Given the description of an element on the screen output the (x, y) to click on. 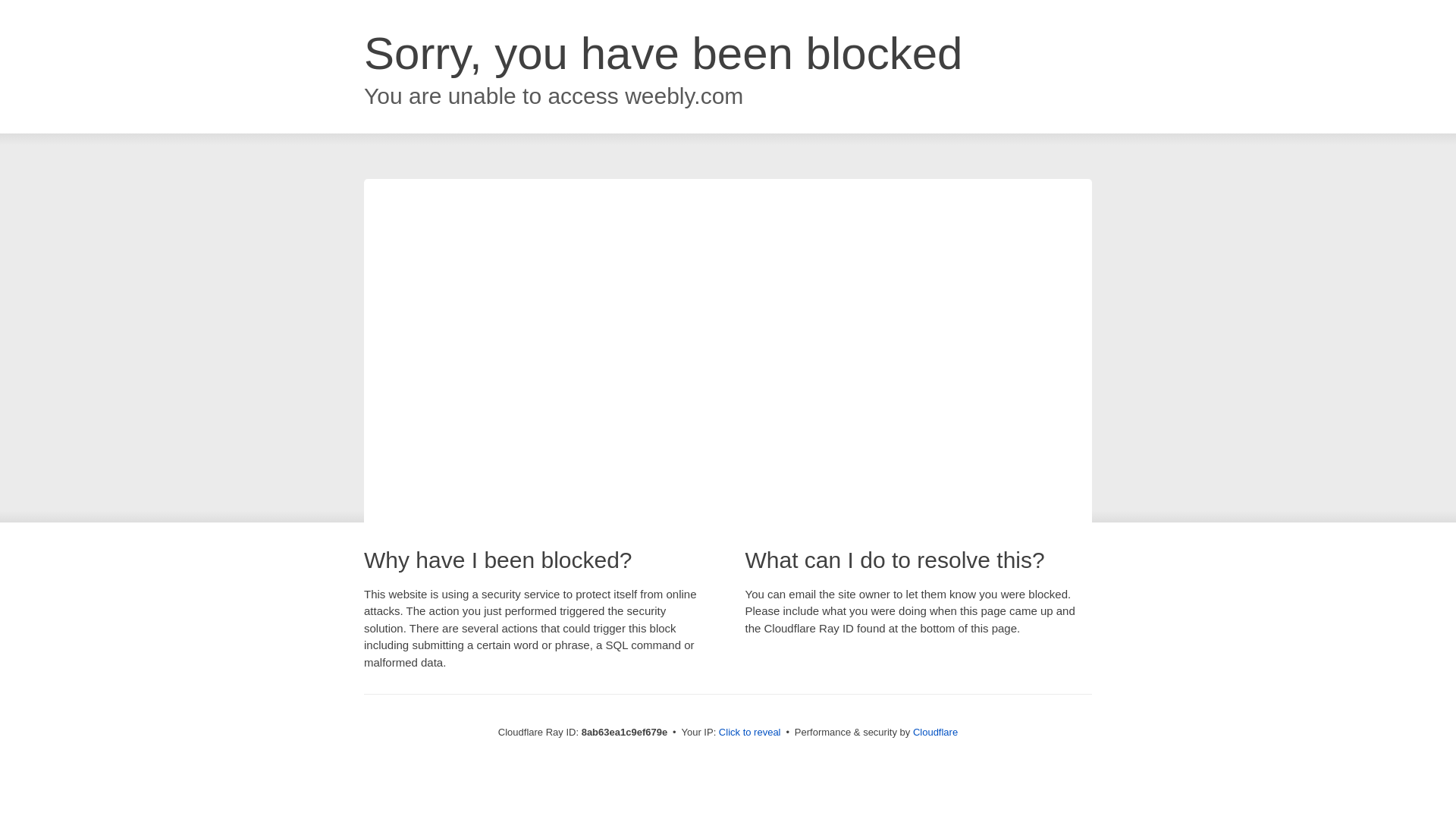
Click to reveal (749, 732)
Cloudflare (935, 731)
